Given the description of an element on the screen output the (x, y) to click on. 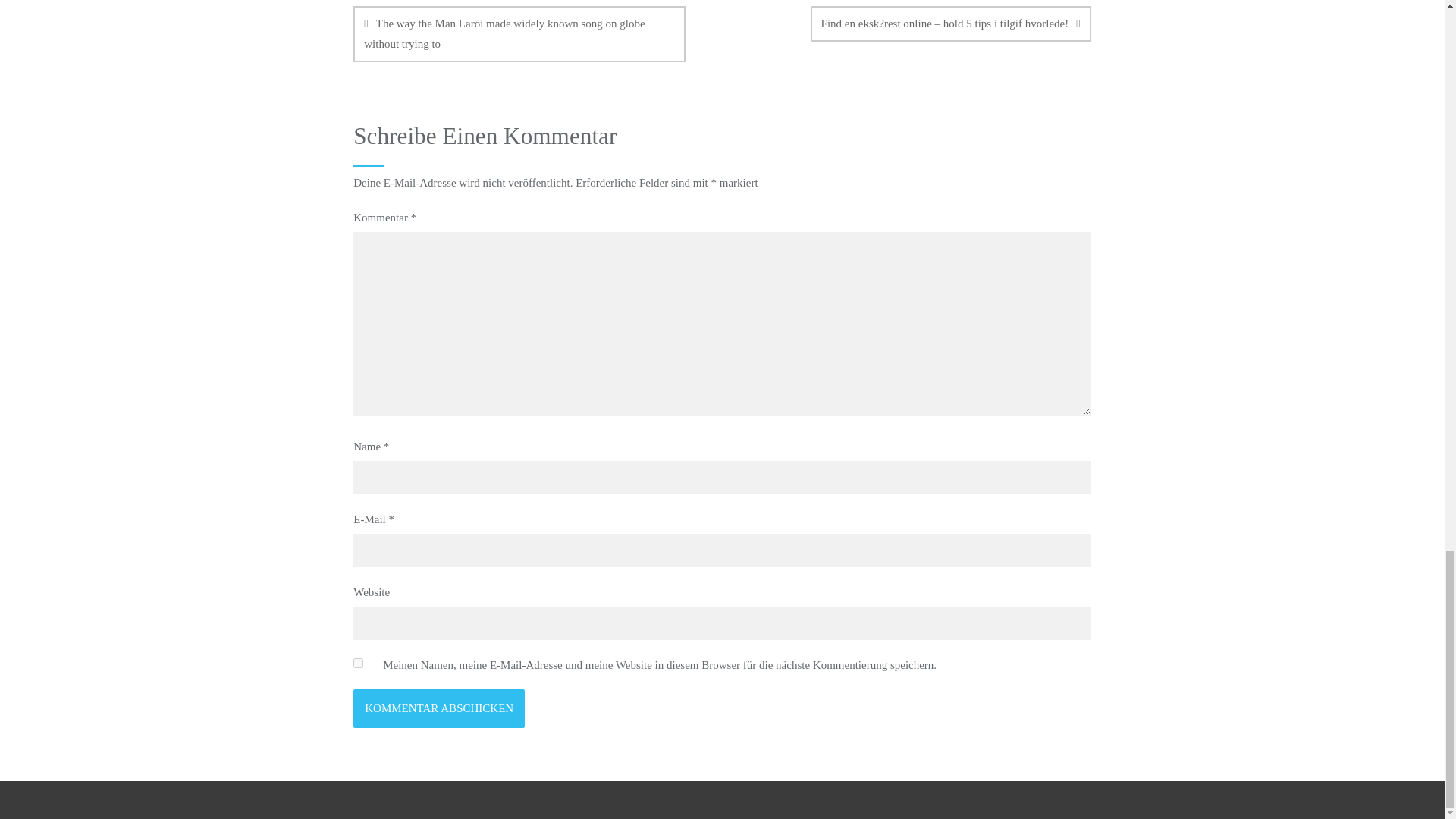
yes (357, 663)
Kommentar abschicken (438, 708)
Kommentar abschicken (438, 708)
